Given the description of an element on the screen output the (x, y) to click on. 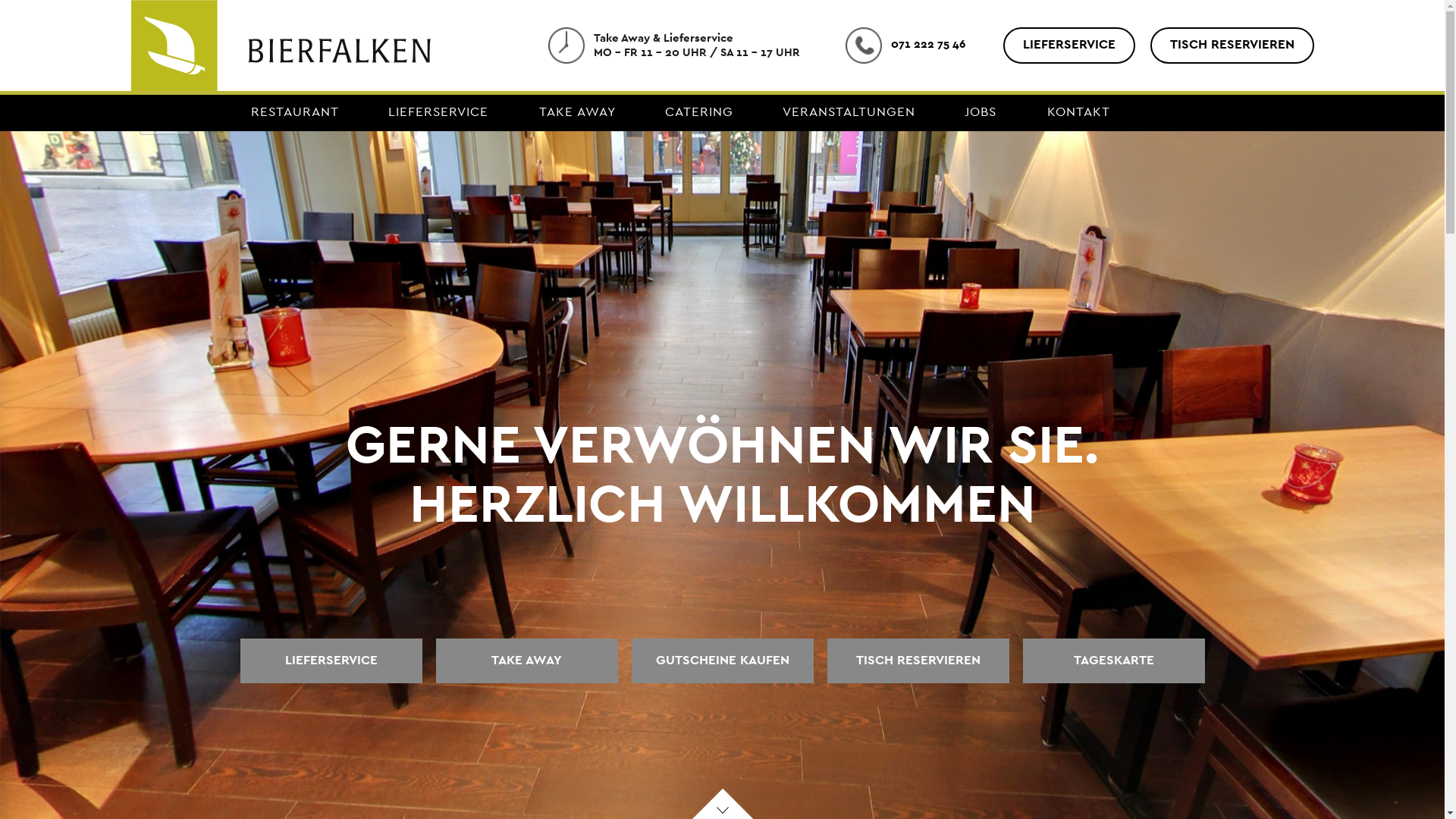
GUTSCHEINE KAUFEN Element type: text (721, 660)
071 222 75 46 Element type: text (904, 46)
VERANSTALTUNGEN Element type: text (849, 113)
TAKE AWAY Element type: text (577, 113)
TAKE AWAY Element type: text (526, 660)
KONTAKT Element type: text (1077, 113)
CATERING Element type: text (698, 113)
TISCH RESERVIEREN Element type: text (1231, 45)
LIEFERSERVICE Element type: text (439, 113)
Bierfalken St. Gallen Element type: hover (280, 80)
TAGESKARTE Element type: text (1113, 660)
LIEFERSERVICE Element type: text (330, 660)
RESTAURANT Element type: text (294, 113)
JOBS Element type: text (981, 113)
LIEFERSERVICE Element type: text (1068, 45)
TISCH RESERVIEREN Element type: text (917, 660)
